Given the description of an element on the screen output the (x, y) to click on. 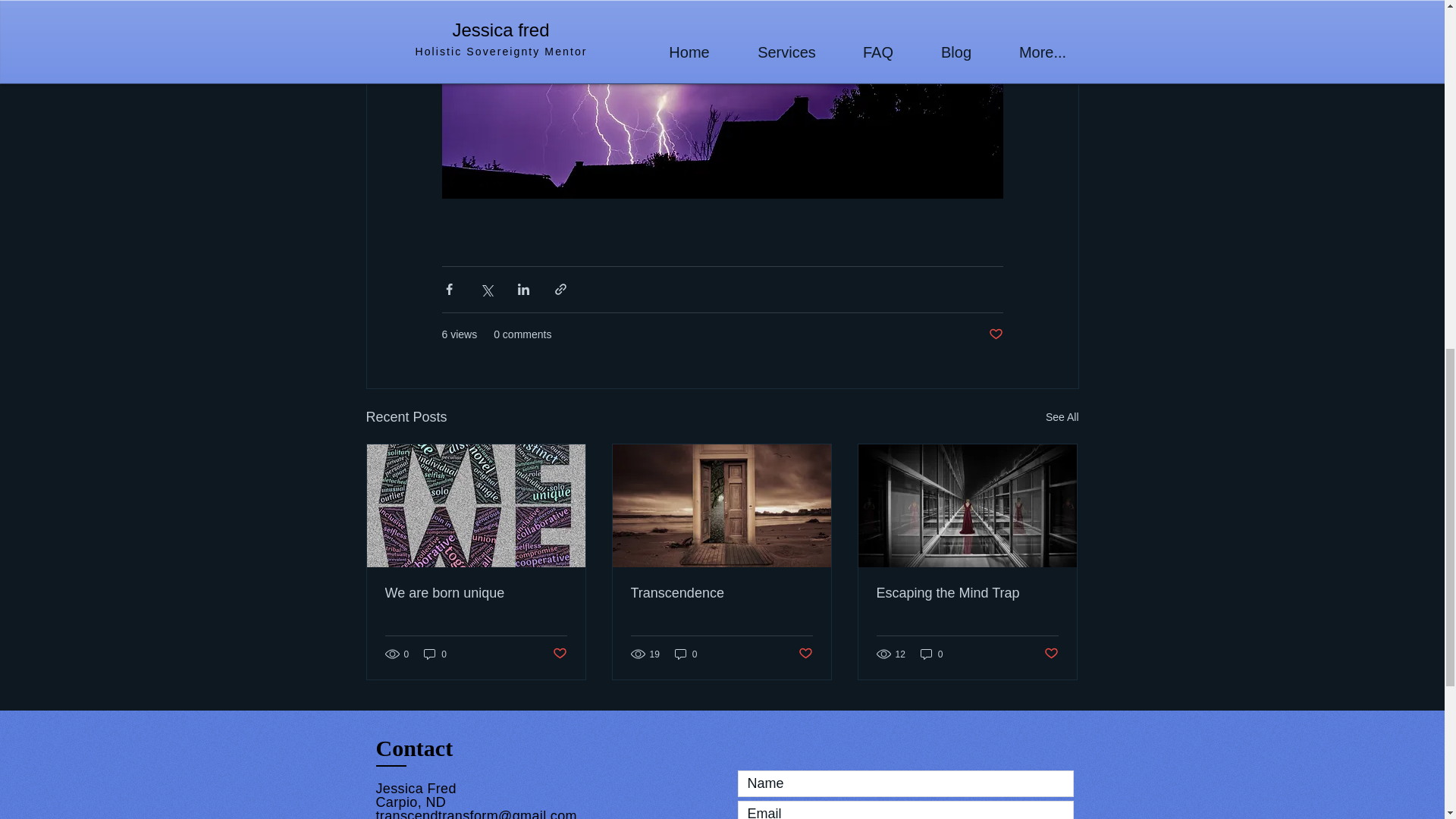
See All (1061, 417)
0 (685, 653)
We are born unique (476, 593)
Post not marked as liked (558, 653)
0 (435, 653)
Transcendence (721, 593)
0 (931, 653)
Post not marked as liked (995, 334)
Post not marked as liked (1050, 653)
Post not marked as liked (804, 653)
